Given the description of an element on the screen output the (x, y) to click on. 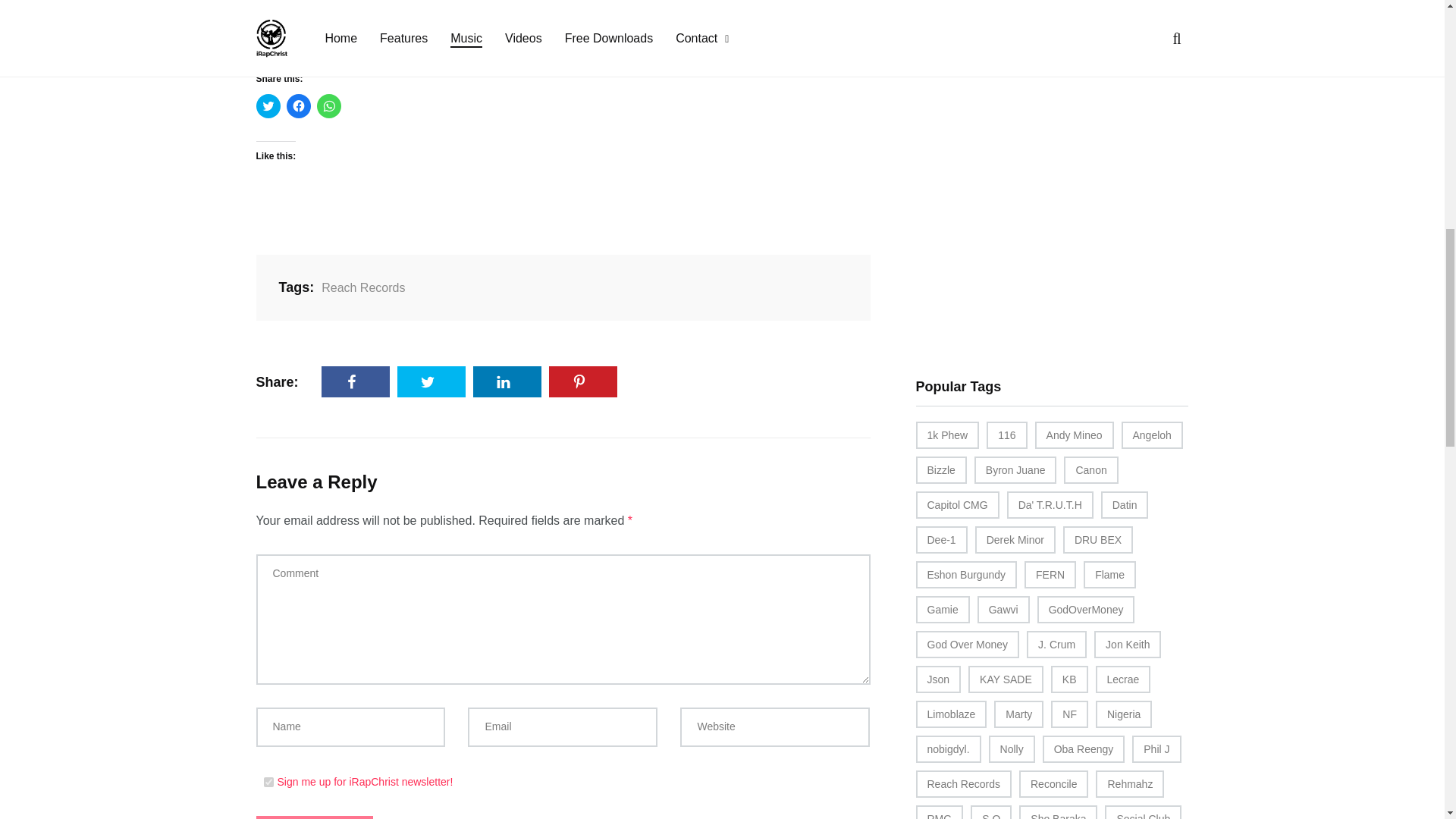
Click to share on WhatsApp (328, 105)
Post Comment (315, 817)
Share on Twitter (431, 381)
Share on LinkedIn (507, 381)
Post Comment (315, 817)
1 (268, 782)
Reach Records (360, 287)
Click to share on Facebook (298, 105)
Click to share on Twitter (268, 105)
Share on Pinterest (582, 381)
